Given the description of an element on the screen output the (x, y) to click on. 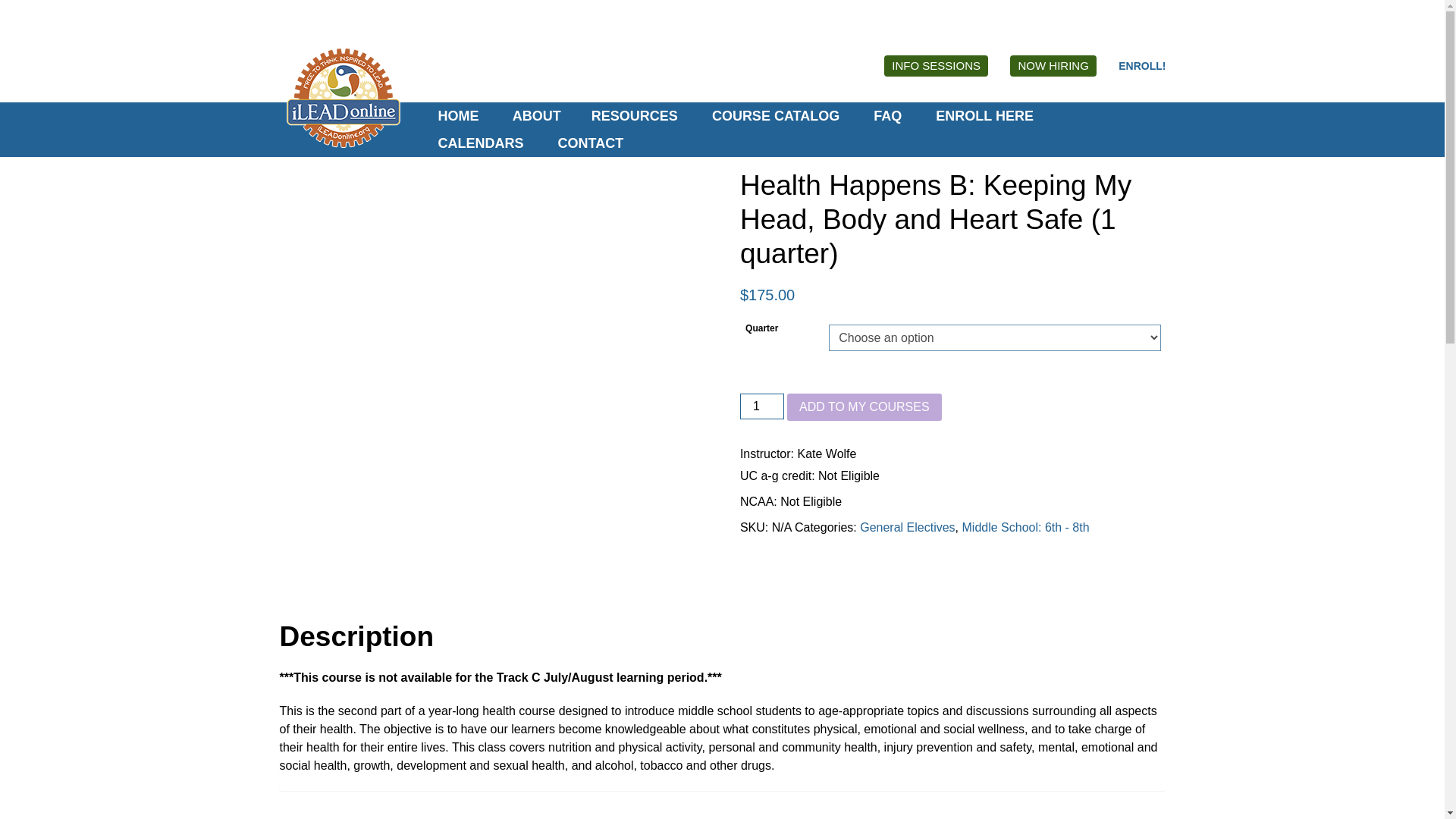
ENROLL! (1142, 65)
INFO SESSIONS (935, 65)
 COURSE CATALOG (773, 115)
About (535, 115)
 ABOUT (535, 115)
Resources (634, 115)
RESOURCES (634, 115)
Home (456, 115)
Enroll Here (1142, 65)
1 (761, 406)
